Given the description of an element on the screen output the (x, y) to click on. 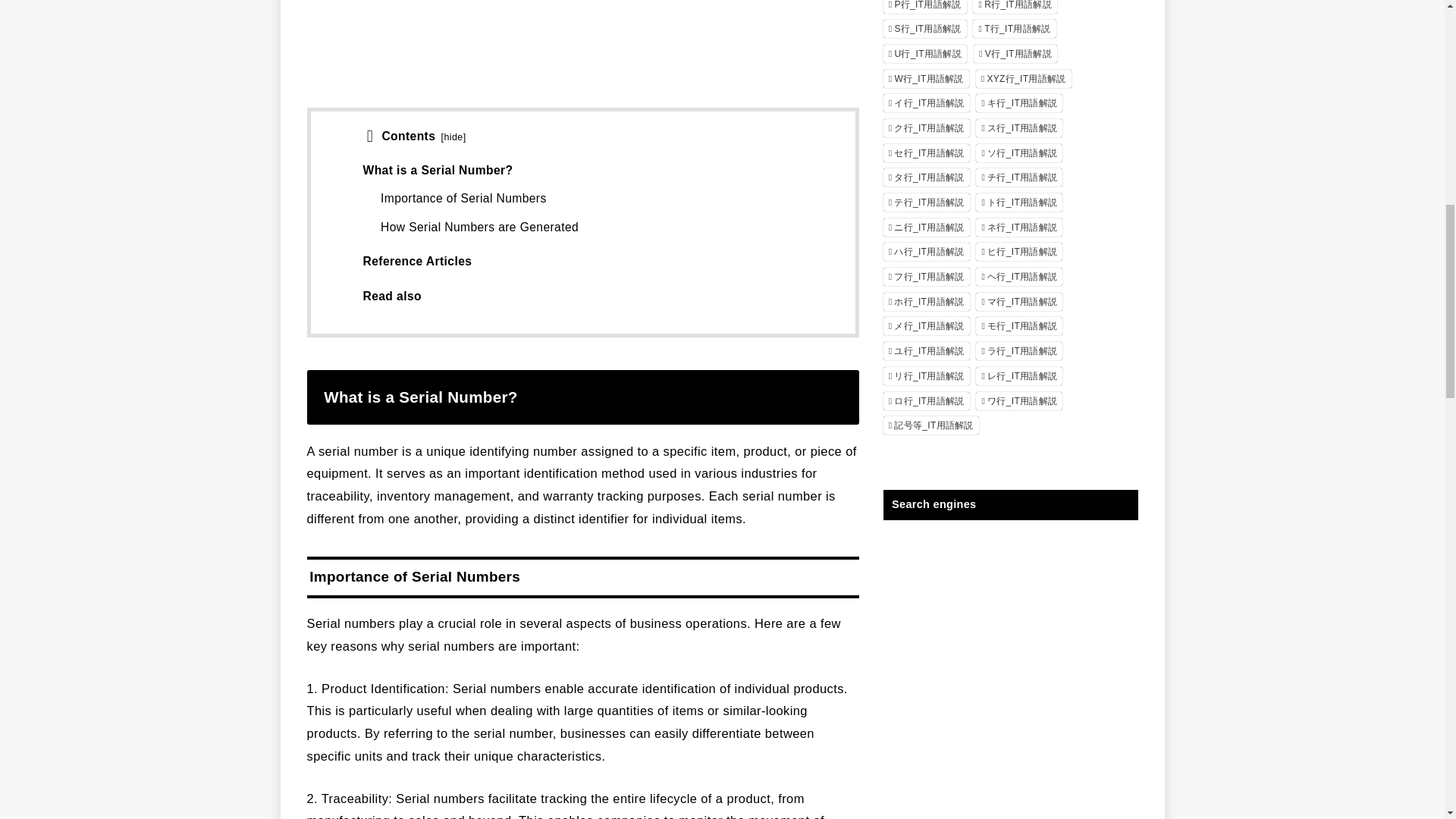
hide (453, 136)
What is a Serial Number? (437, 169)
Search engines (1009, 532)
How Serial Numbers are Generated (479, 226)
Reference Articles (416, 260)
Read also (391, 295)
Advertisement (582, 53)
Importance of Serial Numbers (463, 197)
